Given the description of an element on the screen output the (x, y) to click on. 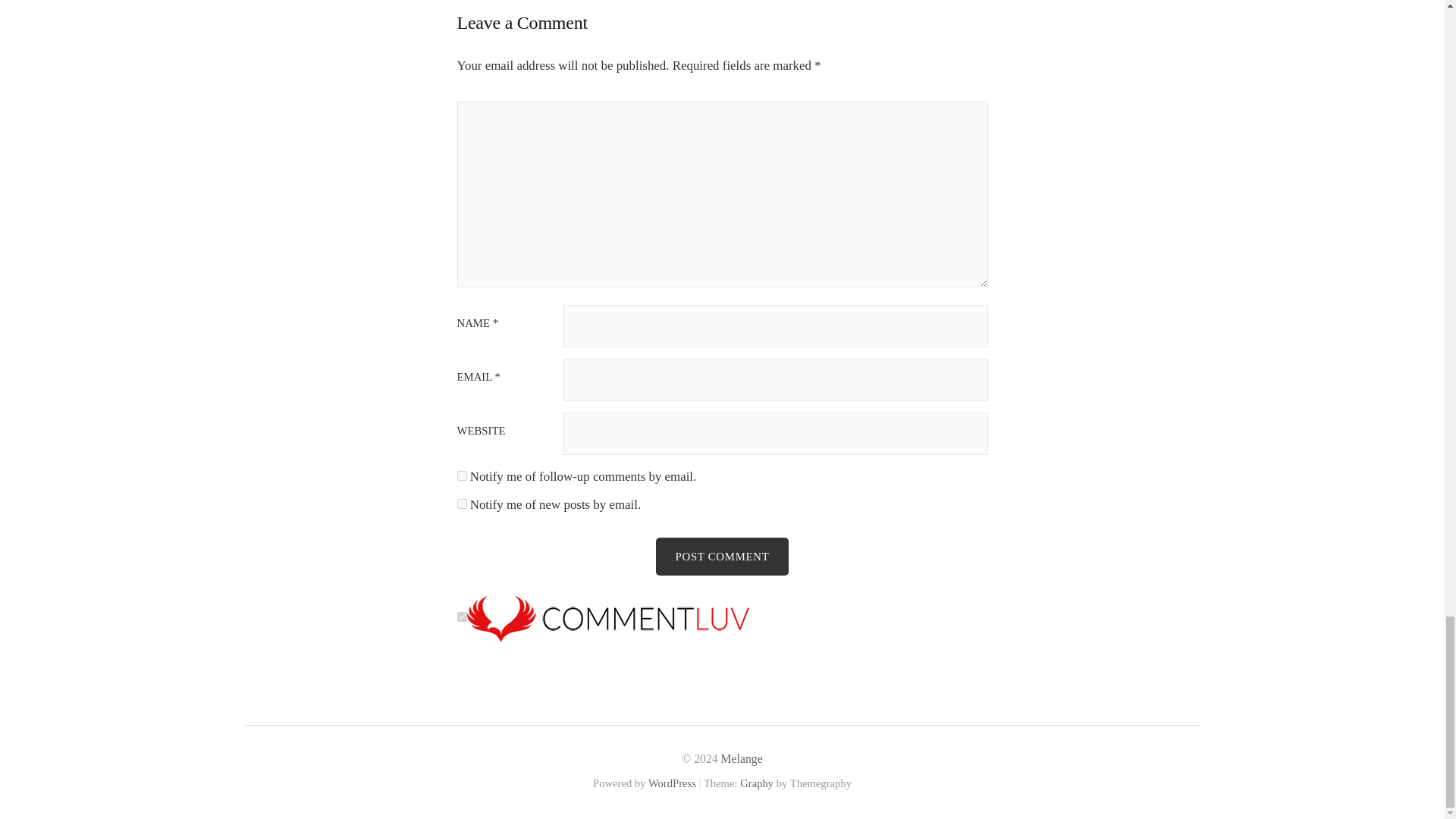
subscribe (461, 503)
subscribe (461, 475)
on (461, 616)
CommentLuv is enabled (608, 617)
Post Comment (721, 556)
